Given the description of an element on the screen output the (x, y) to click on. 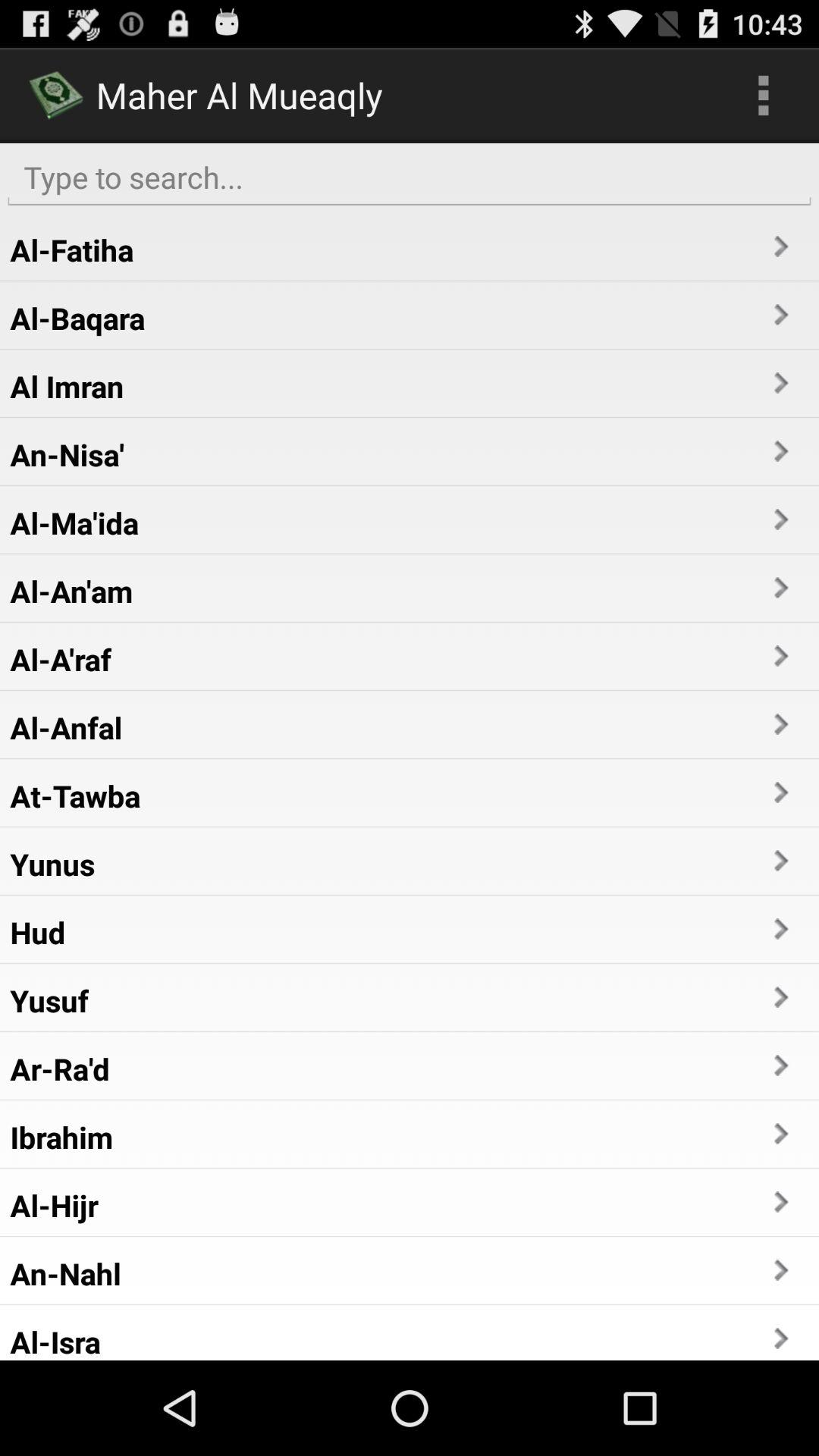
click the item next to at-tawba icon (779, 792)
